Given the description of an element on the screen output the (x, y) to click on. 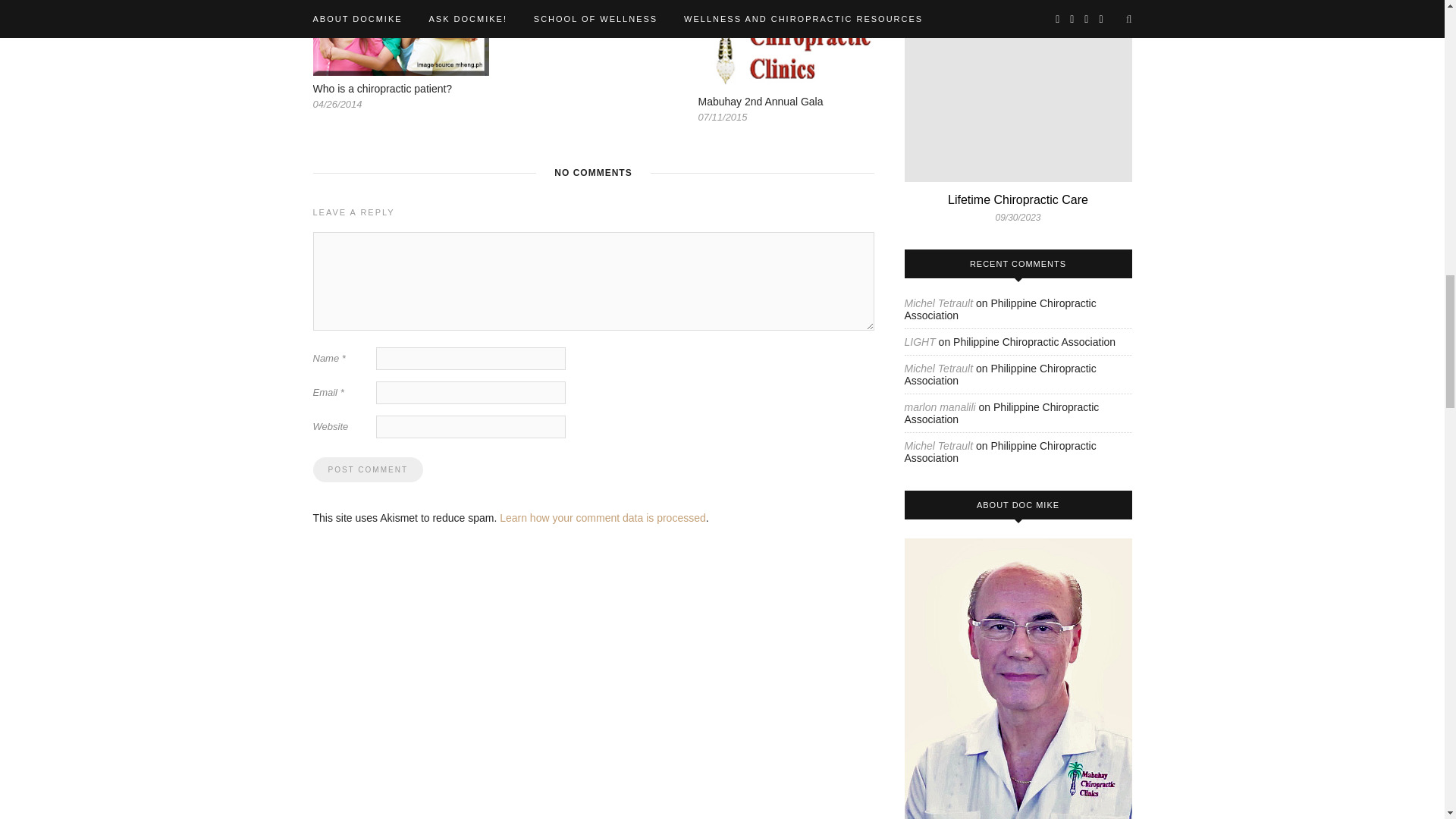
Mabuhay 2nd Annual Gala (759, 101)
Post Comment (367, 469)
Learn how your comment data is processed (602, 517)
Who is a chiropractic patient? (382, 88)
Post Comment (367, 469)
